Given the description of an element on the screen output the (x, y) to click on. 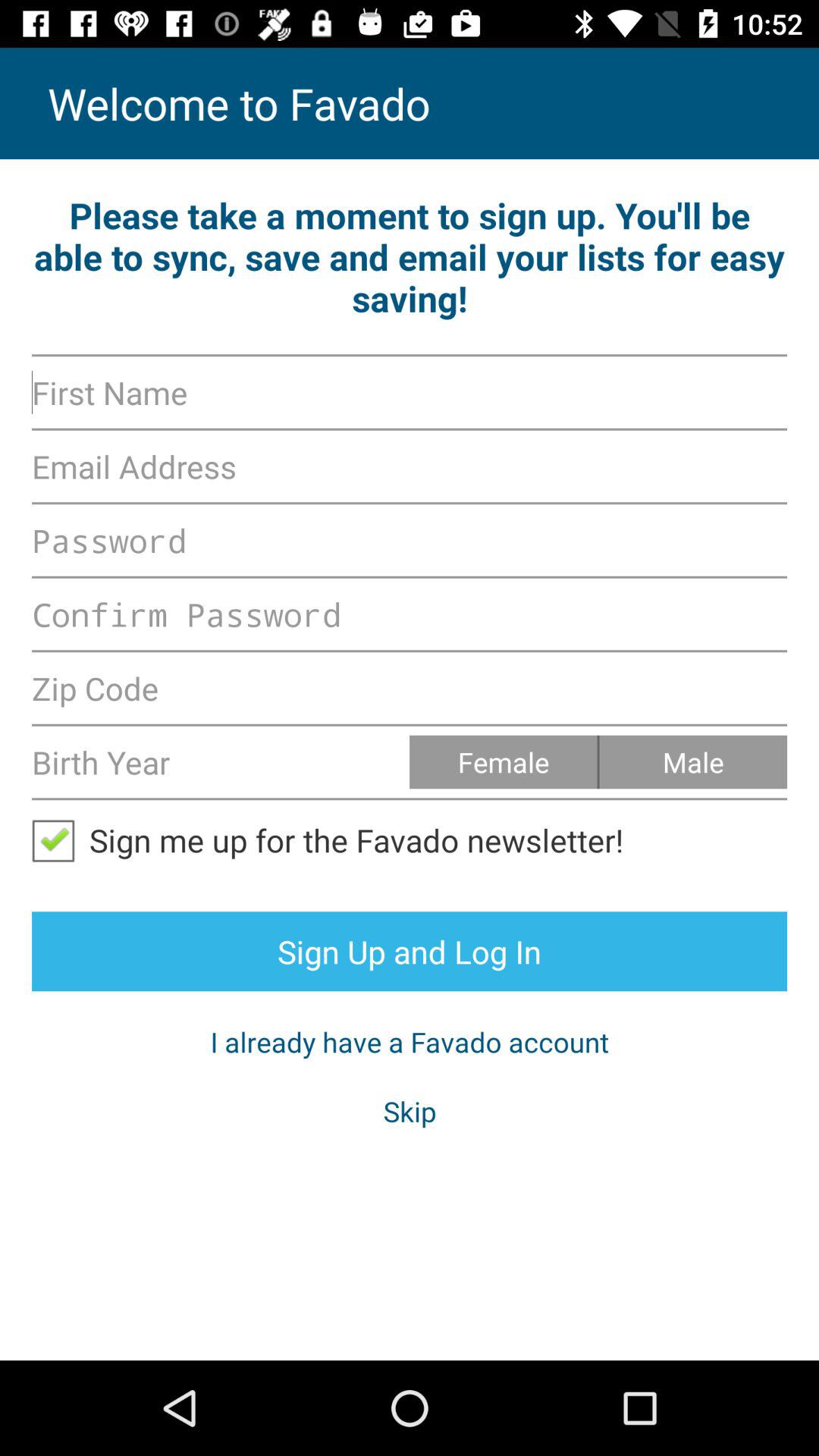
enter email address (409, 466)
